Given the description of an element on the screen output the (x, y) to click on. 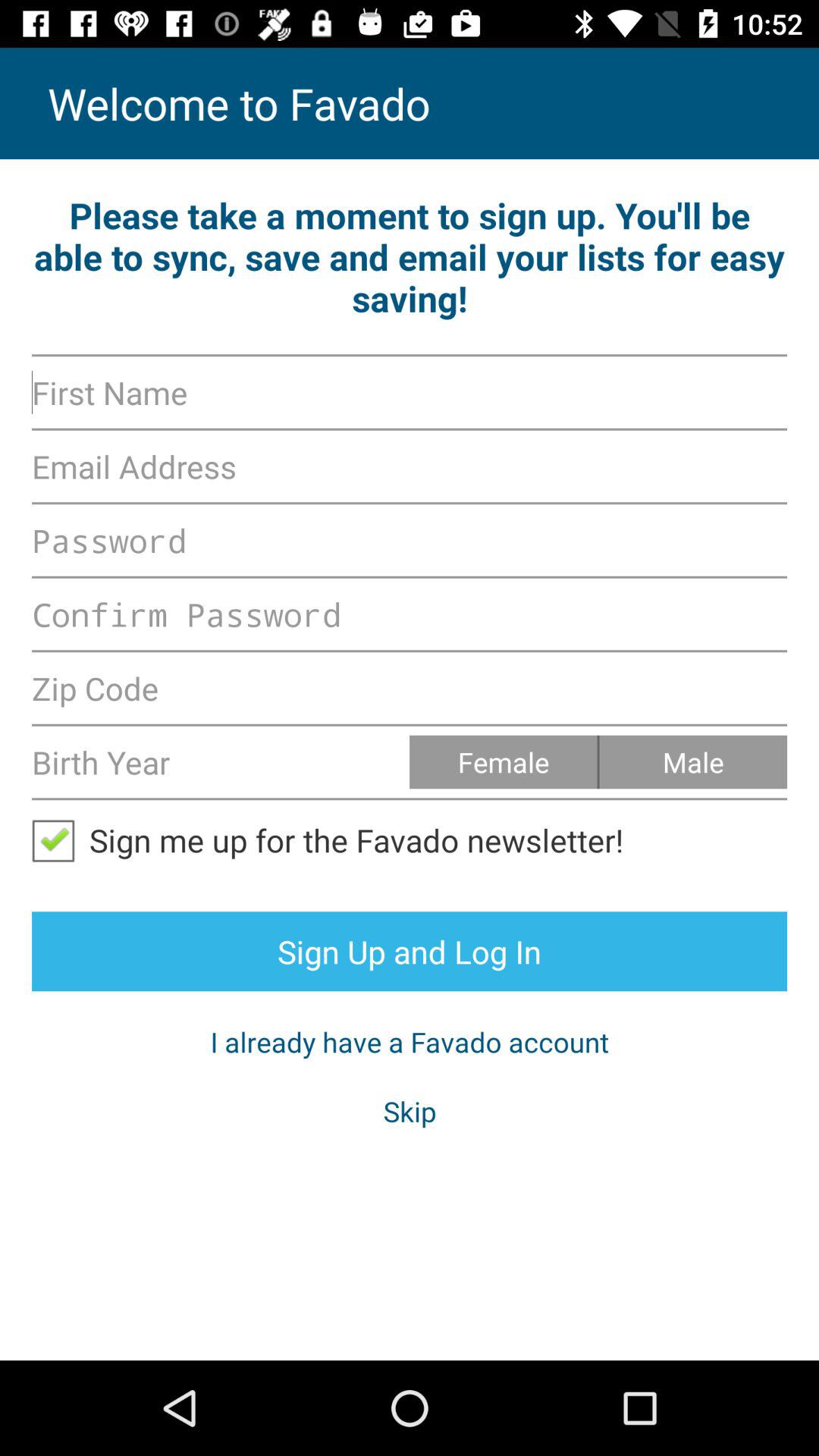
enter email address (409, 466)
